Given the description of an element on the screen output the (x, y) to click on. 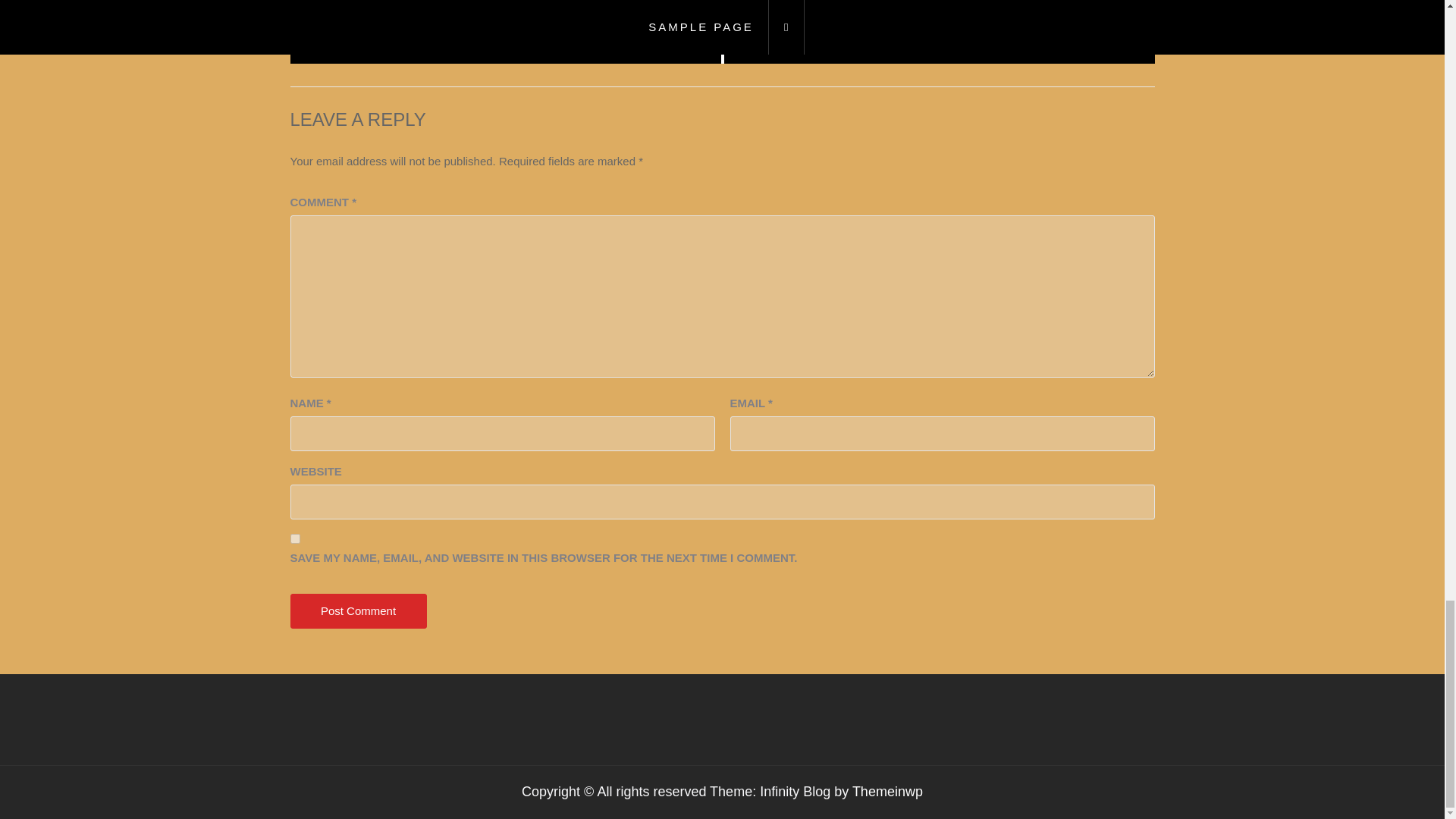
Post Comment (357, 610)
Post Comment (1044, 43)
yes (357, 610)
BLOG (294, 538)
